Given the description of an element on the screen output the (x, y) to click on. 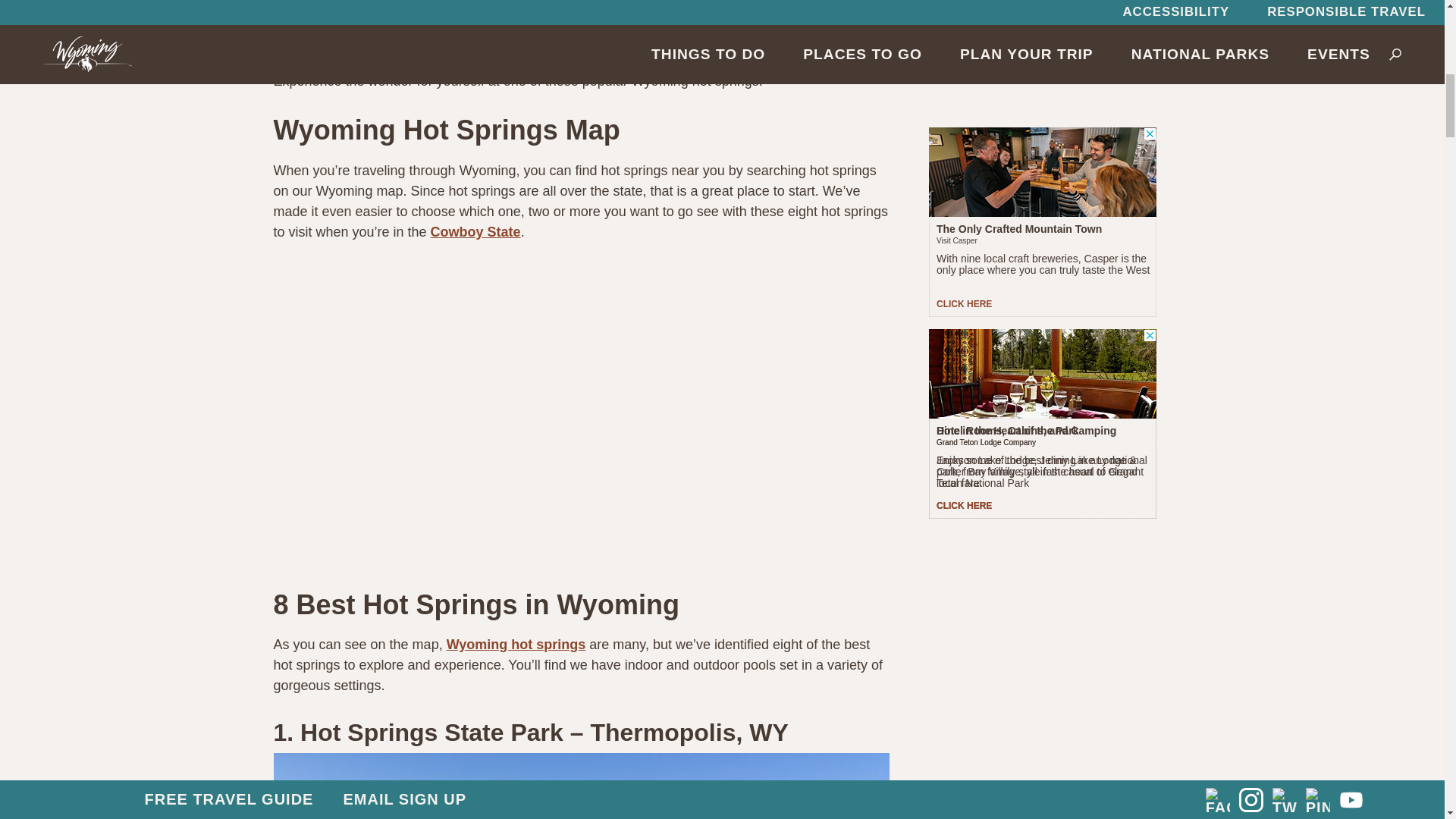
3rd party ad content (1042, 23)
3rd party ad content (1042, 154)
8 Amazing Wyoming Hot Springs (580, 785)
